Given the description of an element on the screen output the (x, y) to click on. 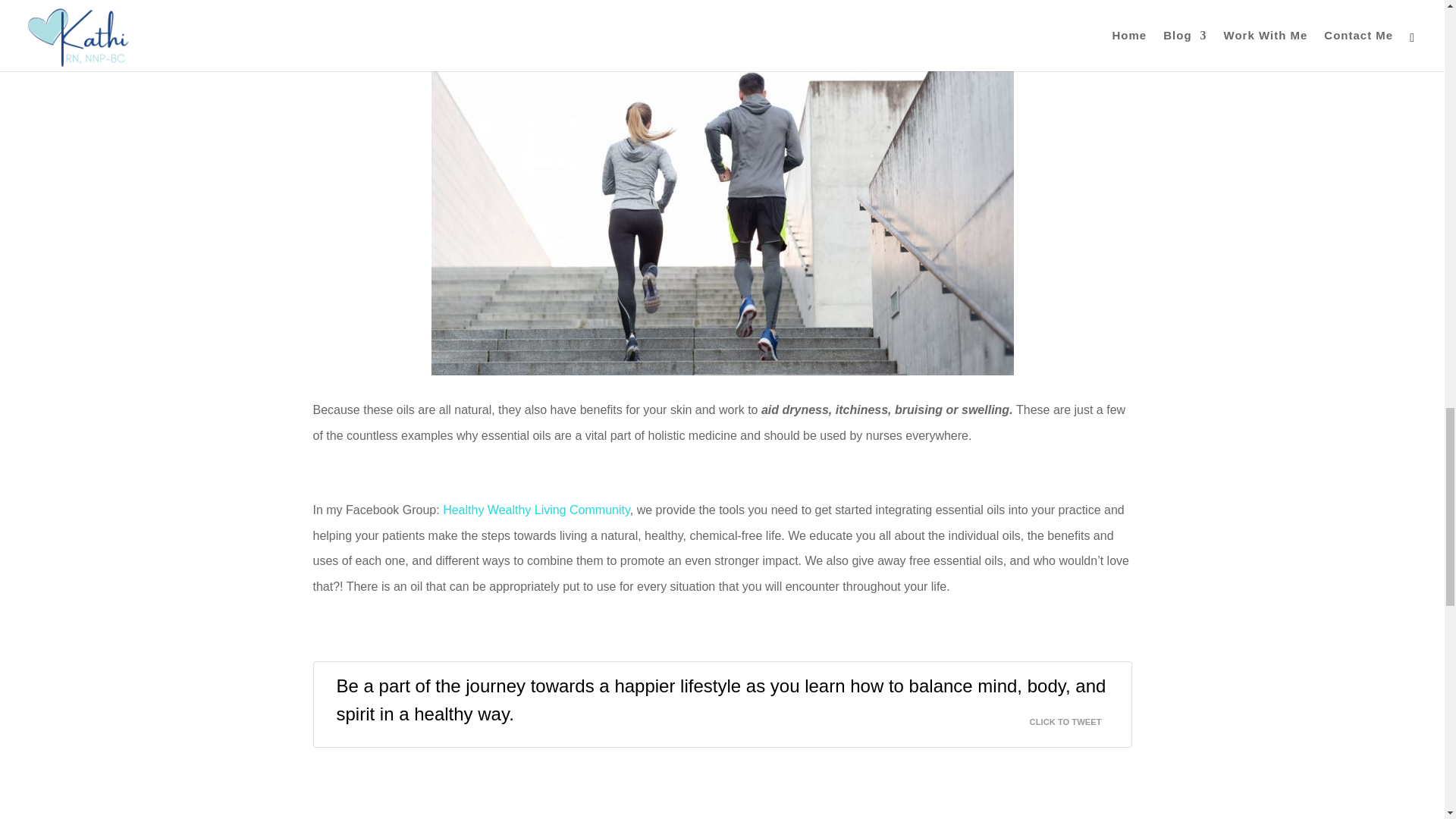
CLICK TO TWEET (1074, 718)
Healthy Wealthy Living Community (536, 509)
